Given the description of an element on the screen output the (x, y) to click on. 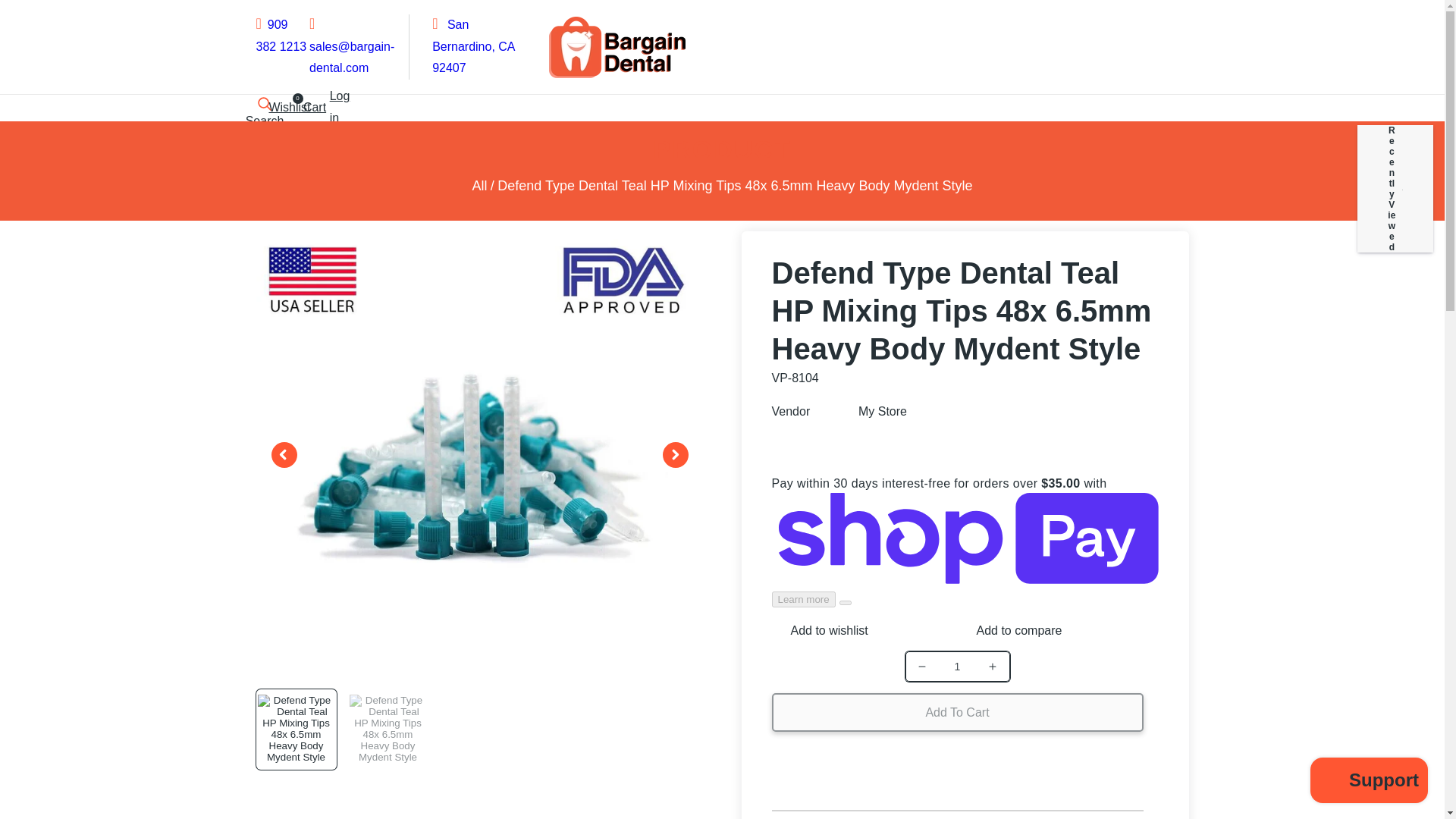
1 (957, 666)
909 382 1213 (281, 35)
My Store (883, 410)
Skip To Content (21, 18)
Shopify online store chat (1369, 781)
San Bernardino, CA 92407 (473, 46)
